Given the description of an element on the screen output the (x, y) to click on. 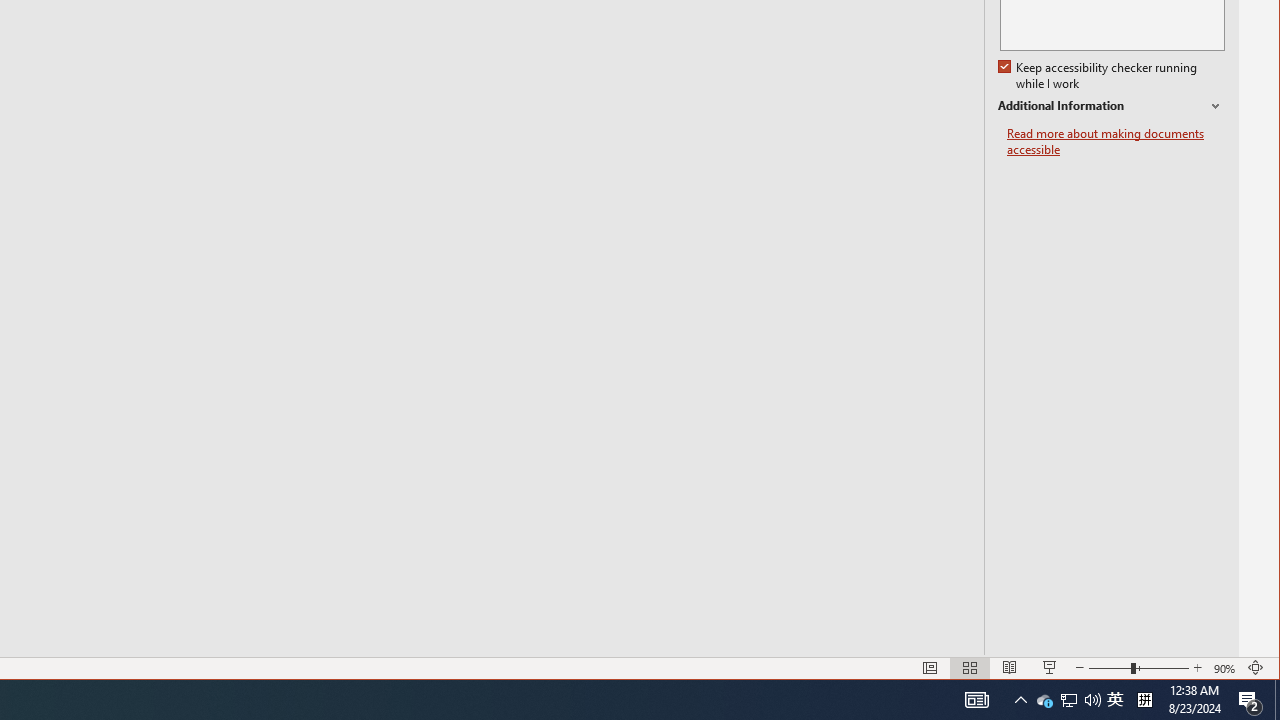
Read more about making documents accessible (1115, 142)
Action Center, 2 new notifications (1250, 699)
Zoom 90% (1225, 668)
Keep accessibility checker running while I work (1099, 76)
Additional Information (1111, 106)
